Given the description of an element on the screen output the (x, y) to click on. 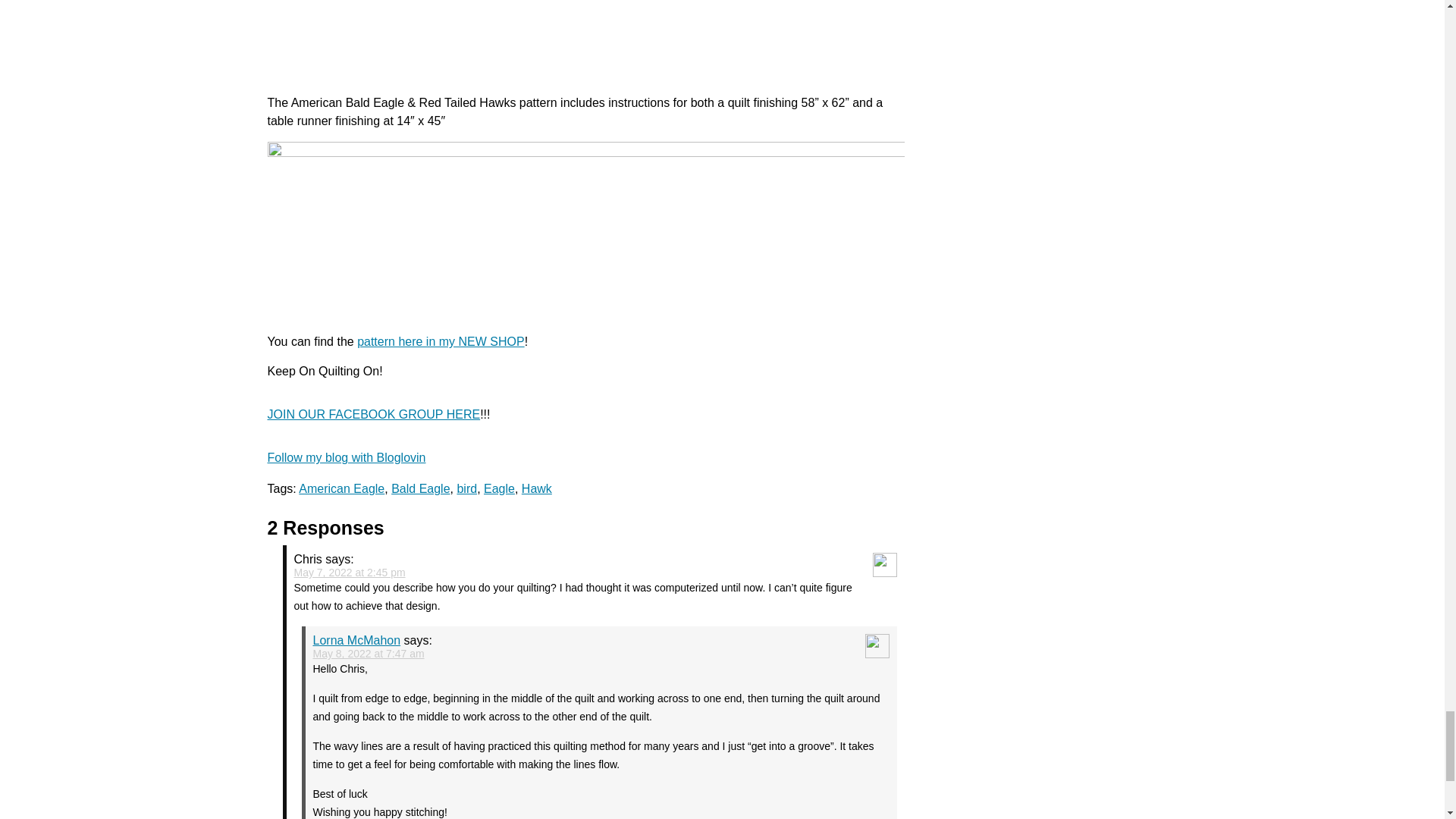
pattern here in my NEW SHOP (440, 341)
Follow my blog with Bloglovin (345, 457)
Bald Eagle (420, 488)
May 8, 2022 at 7:47 am (368, 653)
JOIN OUR FACEBOOK GROUP HERE (373, 413)
American Eagle (341, 488)
Hawk (536, 488)
bird (467, 488)
Lorna McMahon (356, 640)
Eagle (499, 488)
